Given the description of an element on the screen output the (x, y) to click on. 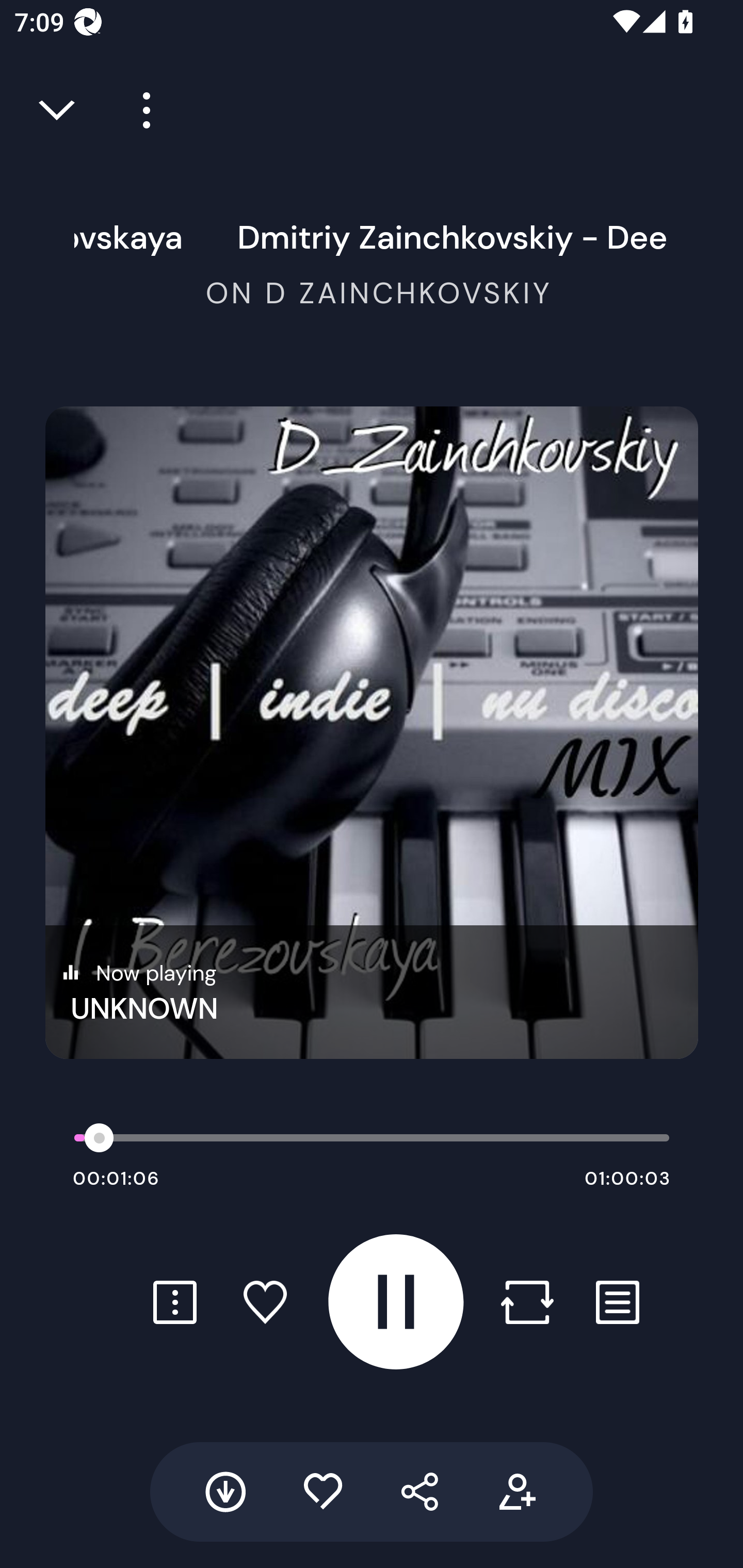
Close full player (58, 110)
Player more options button (139, 110)
Repost button (527, 1301)
